Given the description of an element on the screen output the (x, y) to click on. 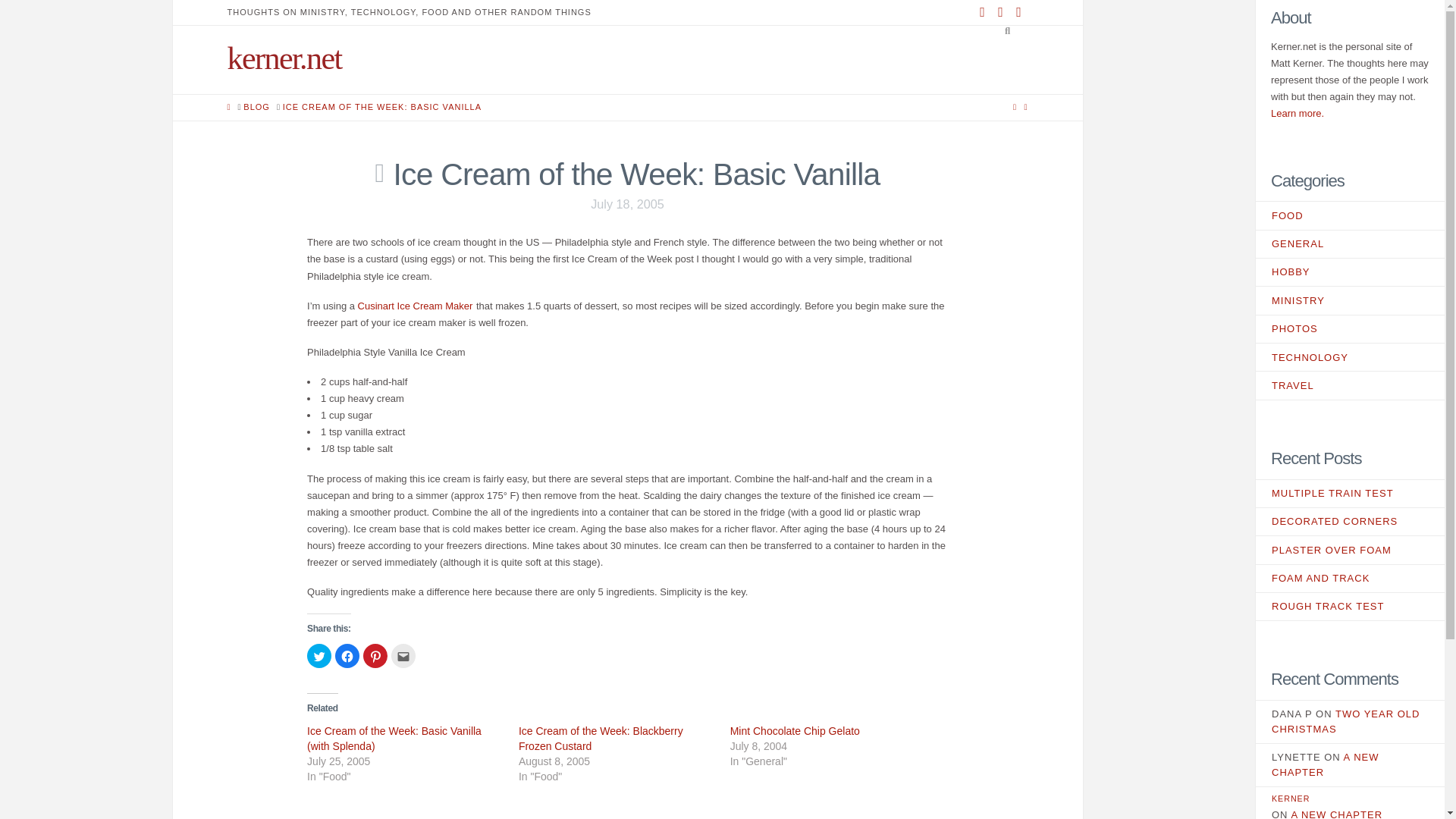
Click to share on Pinterest (374, 655)
Mint Chocolate Chip Gelato (795, 730)
HOBBY (1297, 272)
GENERAL (1305, 243)
MULTIPLE TRAIN TEST (1332, 492)
TWO YEAR OLD CHRISTMAS (1345, 721)
KERNER (1349, 799)
FOAM AND TRACK (1320, 577)
ICE CREAM OF THE WEEK: BASIC VANILLA (381, 107)
TECHNOLOGY (1316, 357)
